Given the description of an element on the screen output the (x, y) to click on. 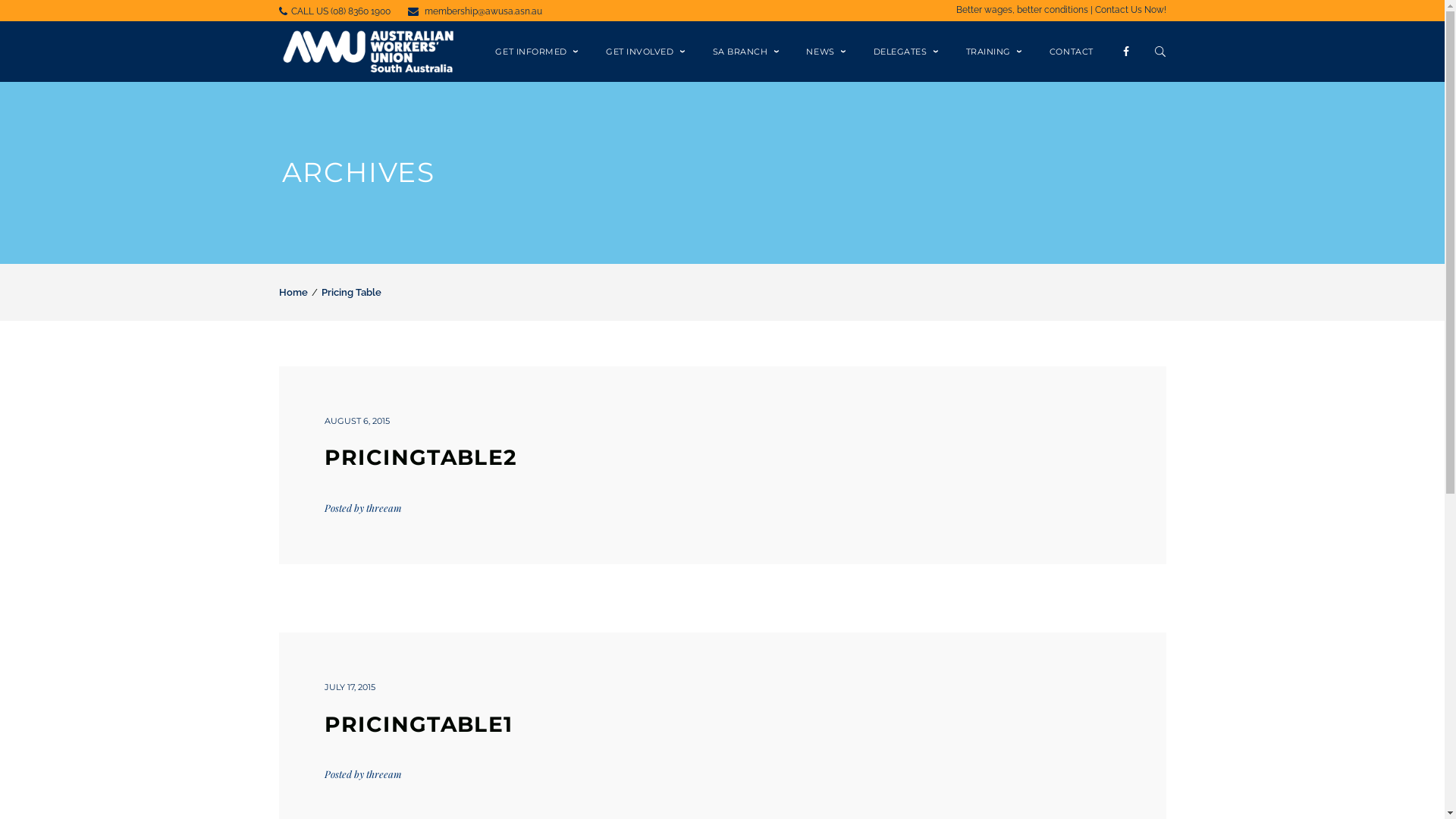
DELEGATES Element type: text (906, 51)
threeam Element type: text (383, 773)
AUGUST 6, 2015 Element type: text (356, 420)
SA BRANCH Element type: text (746, 51)
JULY 17, 2015 Element type: text (349, 686)
CALL US (08) 8360 1900 Element type: text (340, 11)
NEWS Element type: text (826, 51)
GET INVOLVED Element type: text (645, 51)
Home Element type: text (293, 292)
CONTACT Element type: text (1071, 51)
PRICINGTABLE2 Element type: text (420, 457)
membership@awusa.asn.au Element type: text (483, 11)
PRICINGTABLE1 Element type: text (418, 724)
AWU South Australia - Australian Workers Union Element type: hover (368, 50)
GET INFORMED Element type: text (537, 51)
TRAINING Element type: text (994, 51)
threeam Element type: text (383, 507)
